Given the description of an element on the screen output the (x, y) to click on. 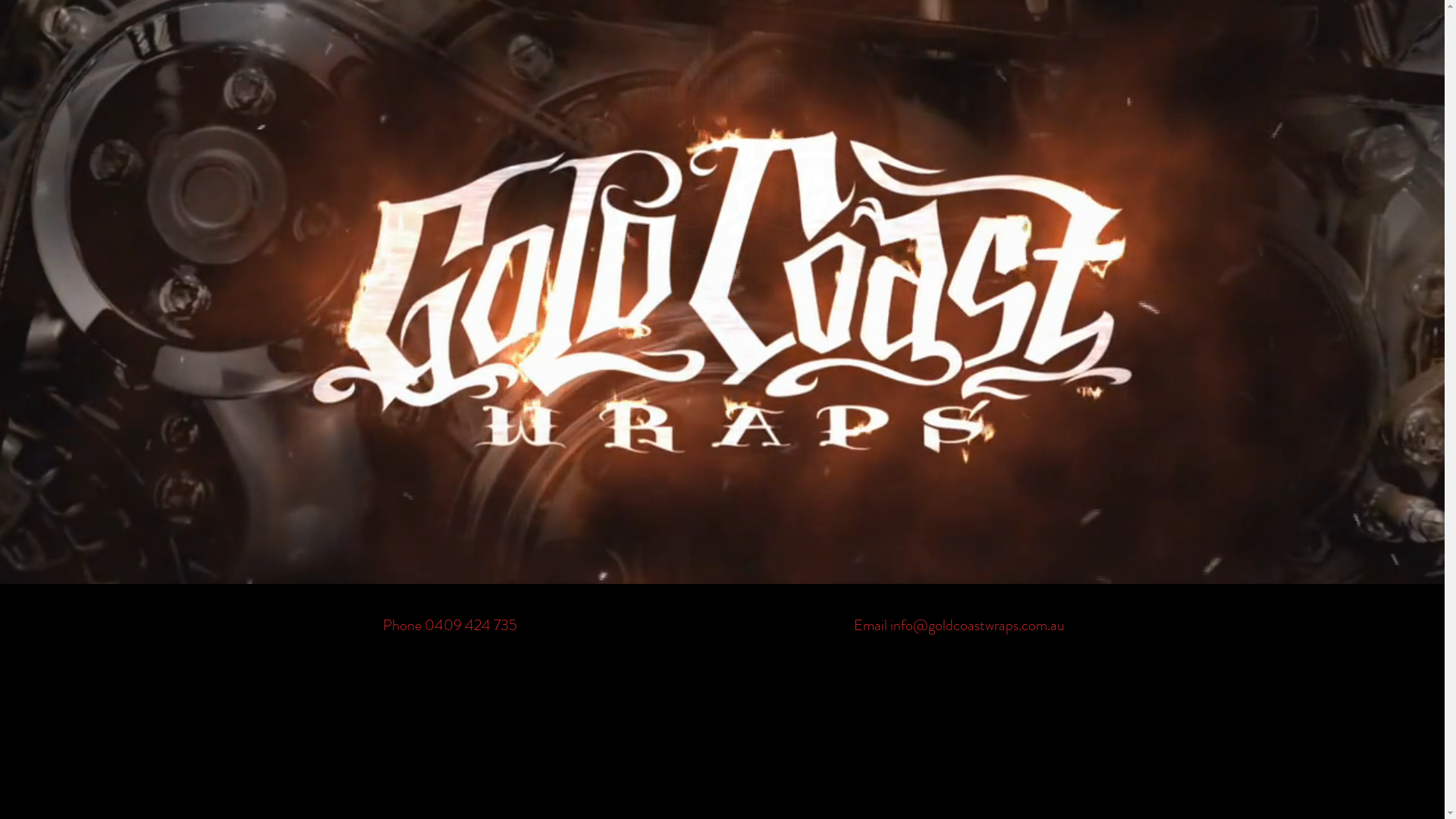
CUSTOM SERVICES Element type: text (926, 475)
Email info@goldcoastwraps.com.au Element type: text (958, 625)
COMMERCIAL SERVICES Element type: text (515, 475)
Phone 0409 424 735 Element type: text (449, 625)
